Given the description of an element on the screen output the (x, y) to click on. 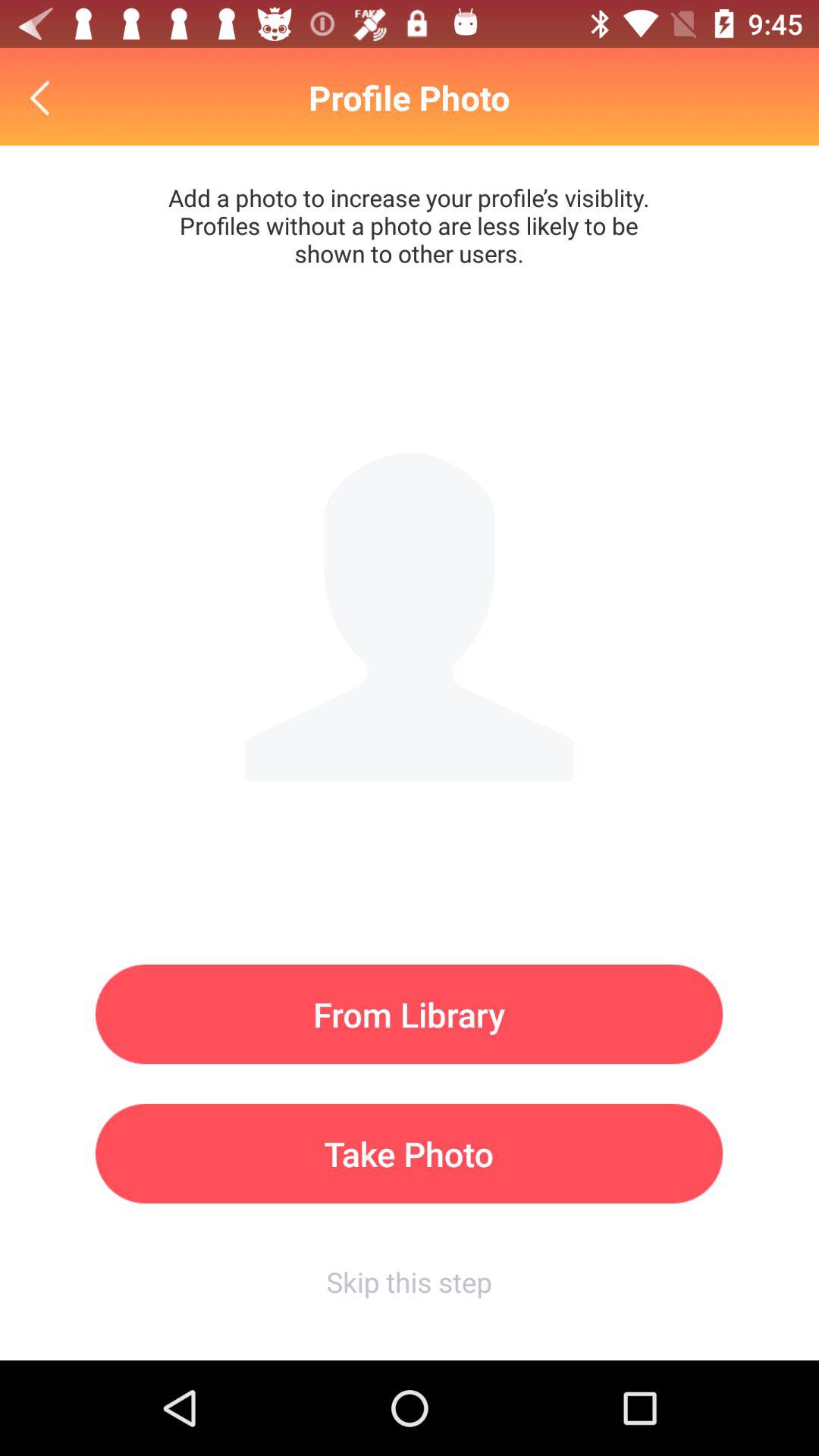
turn off the icon next to the profile photo item (43, 97)
